Given the description of an element on the screen output the (x, y) to click on. 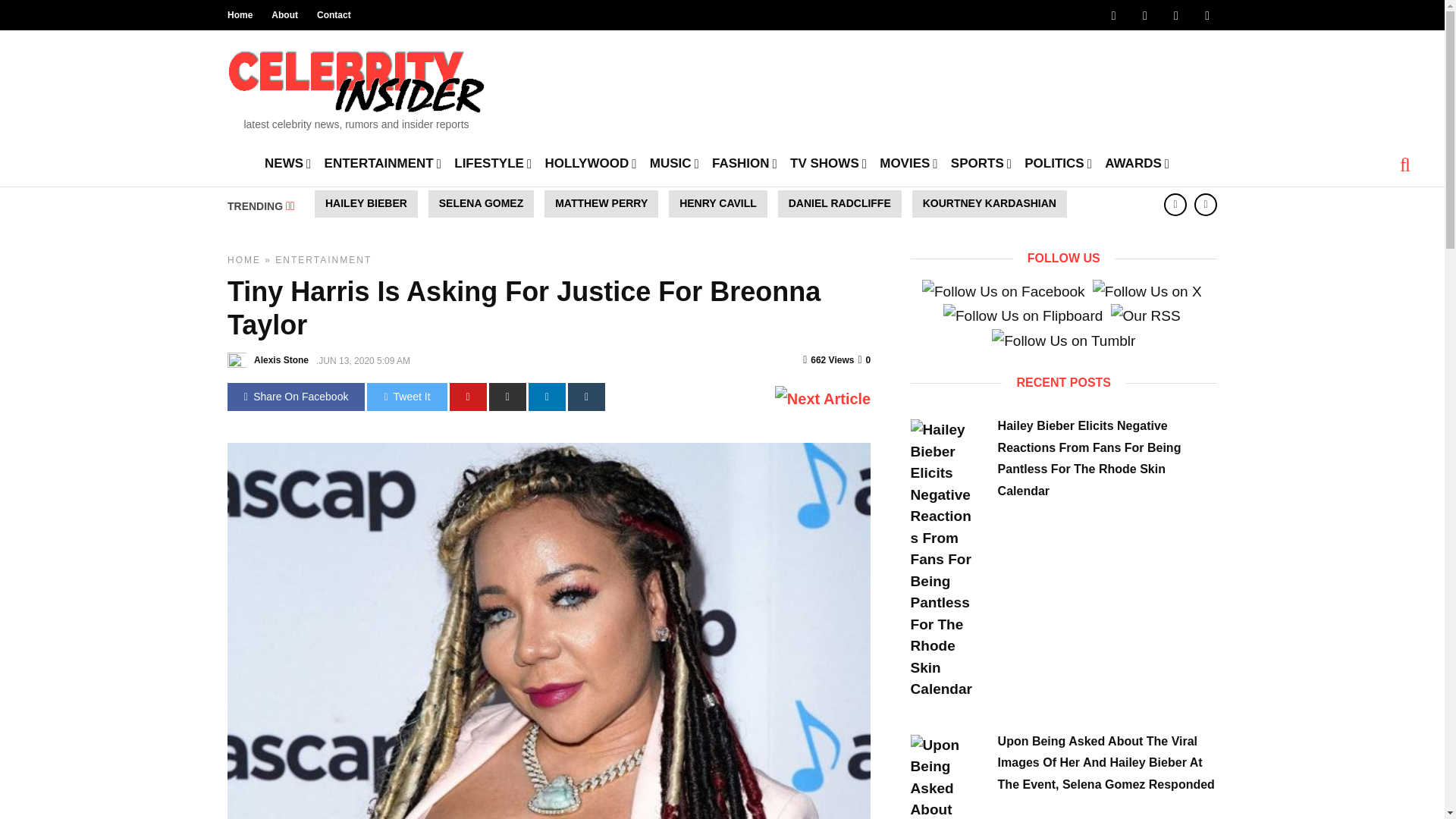
HOLLYWOOD (590, 162)
SPORTS (981, 162)
NEWS (287, 162)
HAILEY BIEBER (365, 203)
About (284, 14)
Home (239, 14)
Share On Linkedin (547, 397)
MUSIC (674, 162)
AWARDS (1136, 162)
POLITICS (1058, 162)
